Given the description of an element on the screen output the (x, y) to click on. 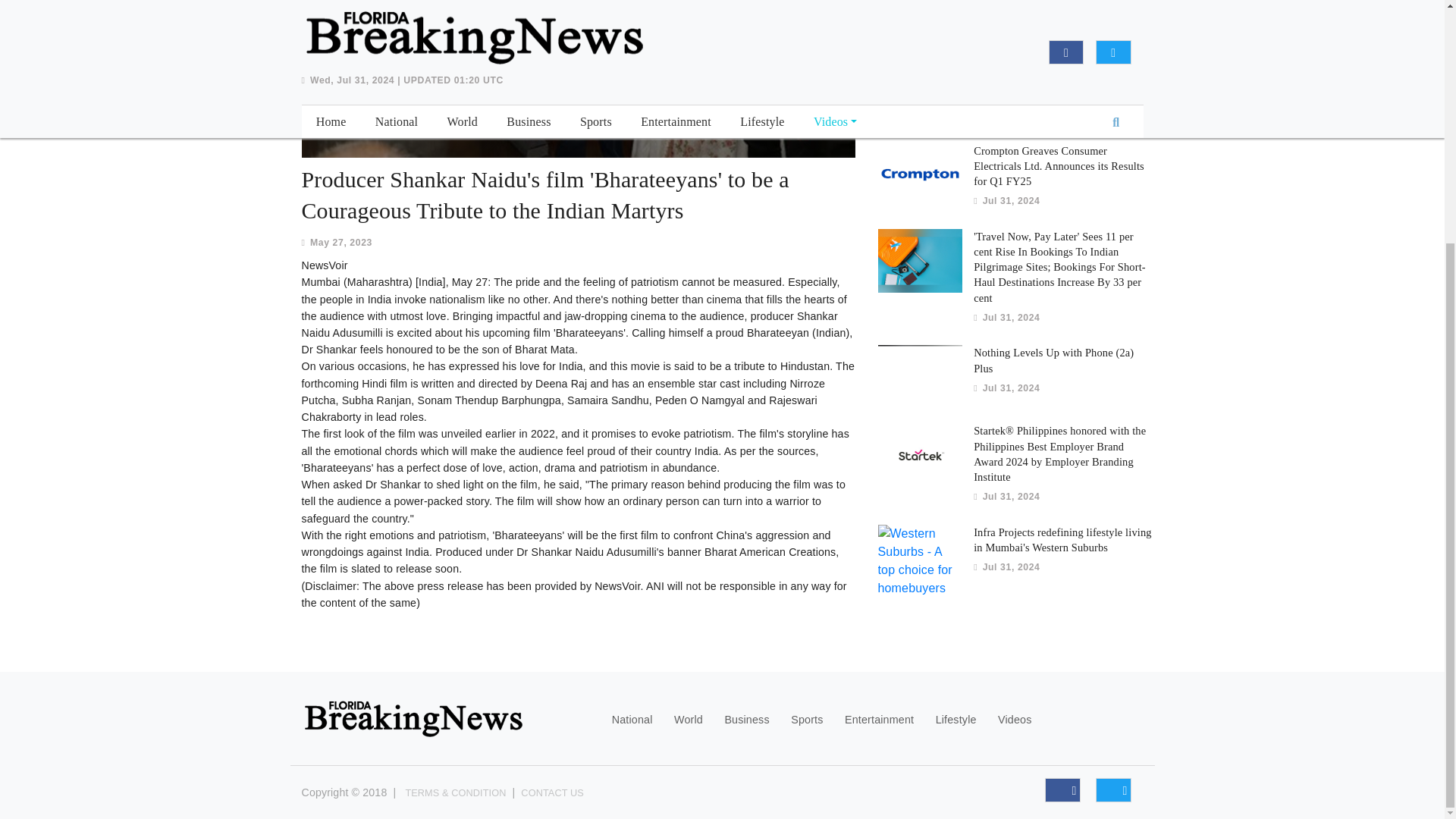
Sports (806, 719)
Lifestyle (956, 719)
Entertainment (879, 719)
Business (745, 719)
National (631, 719)
World (688, 719)
